Given the description of an element on the screen output the (x, y) to click on. 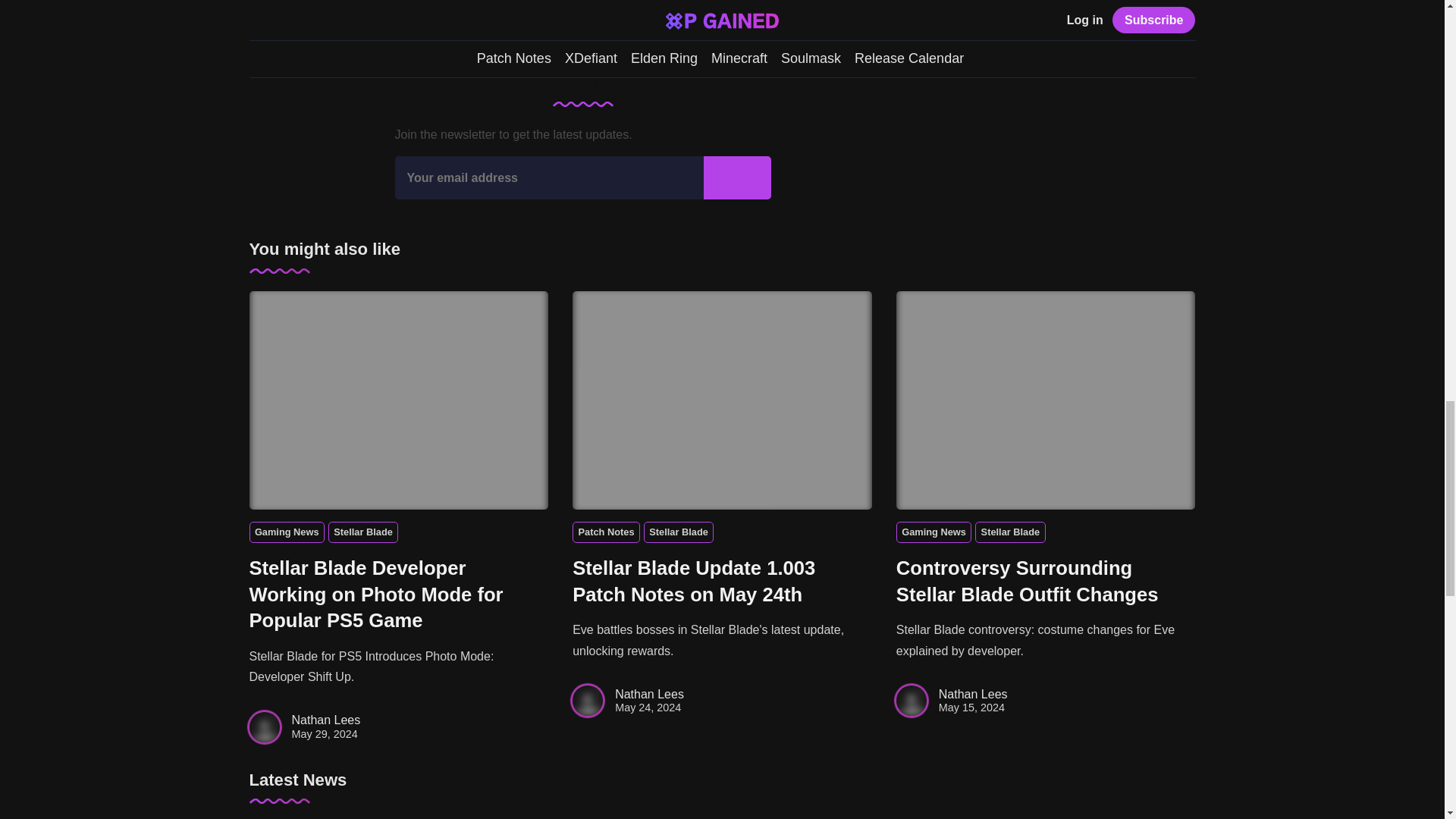
Subscribe (737, 177)
Stellar Blade (477, 4)
PlayStation News (392, 4)
Gaming News (285, 531)
Stellar Blade (363, 531)
